Given the description of an element on the screen output the (x, y) to click on. 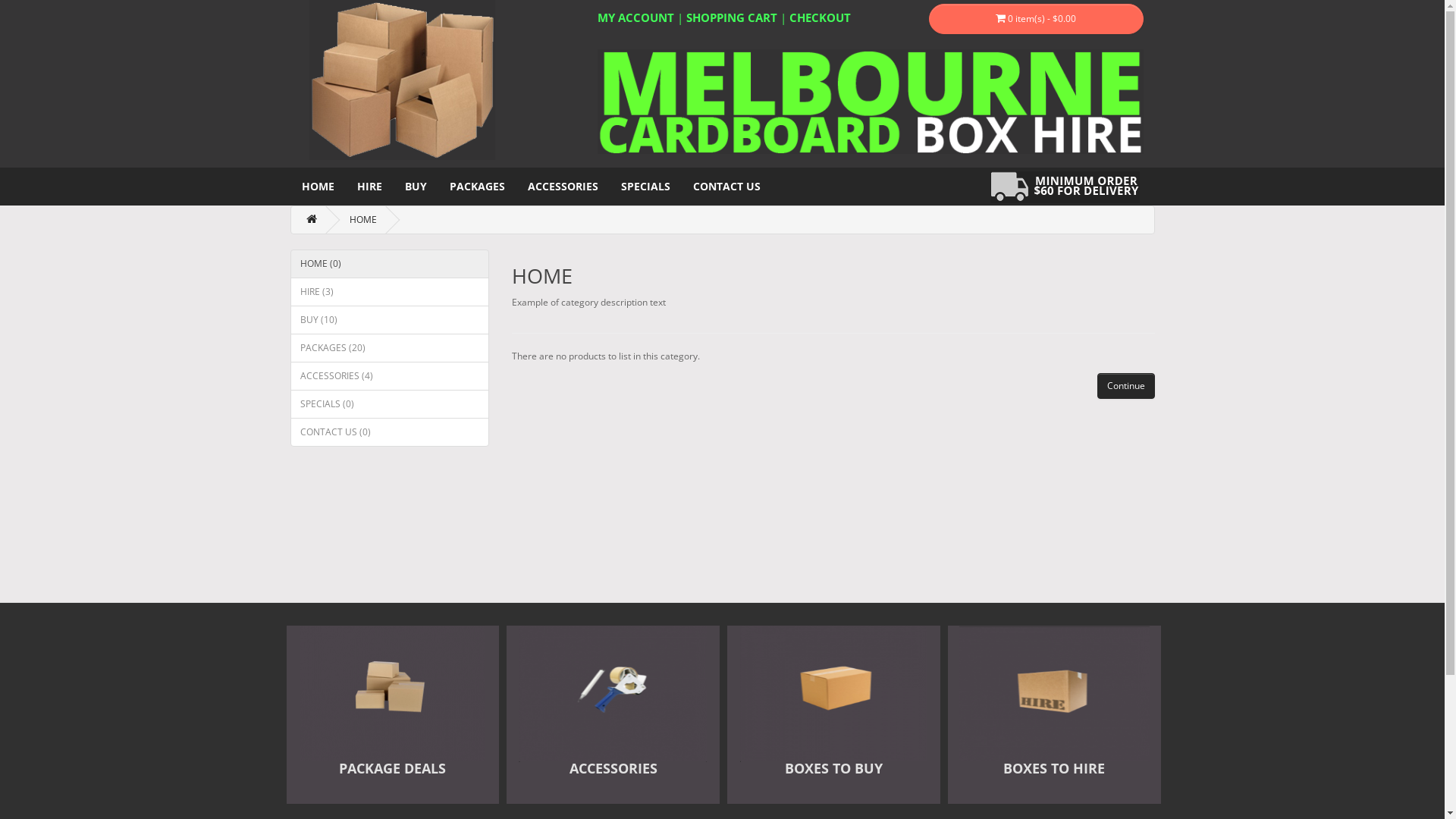
CONTACT US Element type: text (725, 186)
HOME Element type: text (317, 186)
CONTACT US (0) Element type: text (389, 431)
PACKAGES Element type: text (477, 186)
HOME Element type: text (362, 219)
SPECIALS (0) Element type: text (389, 403)
Card Board Element type: hover (1072, 187)
0 item(s) - $0.00 Element type: text (1035, 18)
SHOPPING CART Element type: text (730, 17)
HIRE (3) Element type: text (389, 291)
Continue Element type: text (1125, 385)
PACKAGES (20) Element type: text (389, 347)
HOME (0) Element type: text (389, 263)
Card Board Element type: hover (870, 101)
BUY Element type: text (414, 186)
Melbourne Cardboard Box Hire - Packing Boxes Home Element type: hover (391, 80)
BUY (10) Element type: text (389, 319)
MY ACCOUNT Element type: text (635, 17)
ACCESSORIES Element type: text (561, 186)
SPECIALS Element type: text (645, 186)
HIRE Element type: text (369, 186)
CHECKOUT Element type: text (819, 17)
ACCESSORIES (4) Element type: text (389, 375)
